Given the description of an element on the screen output the (x, y) to click on. 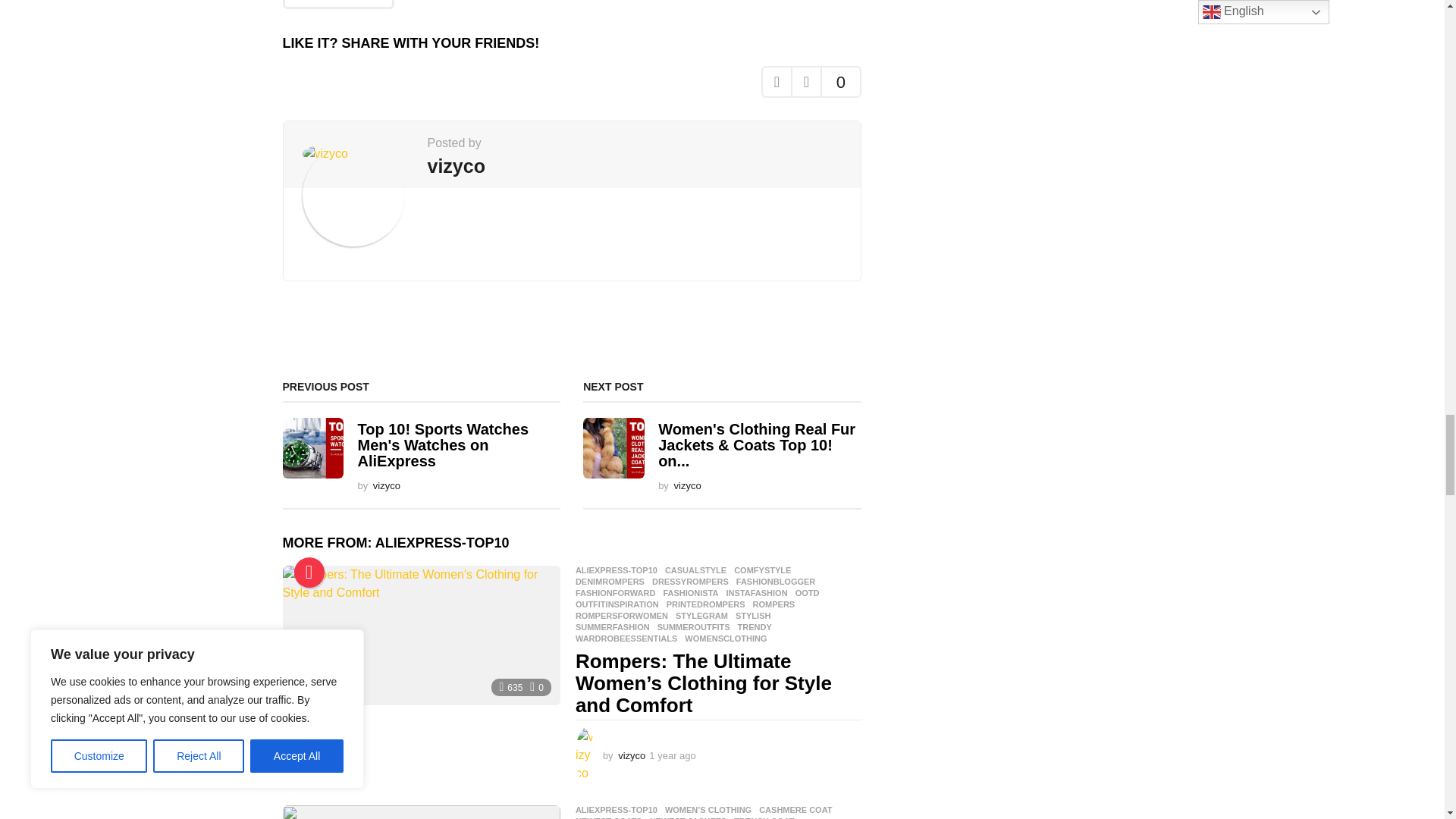
Hot (309, 572)
